Given the description of an element on the screen output the (x, y) to click on. 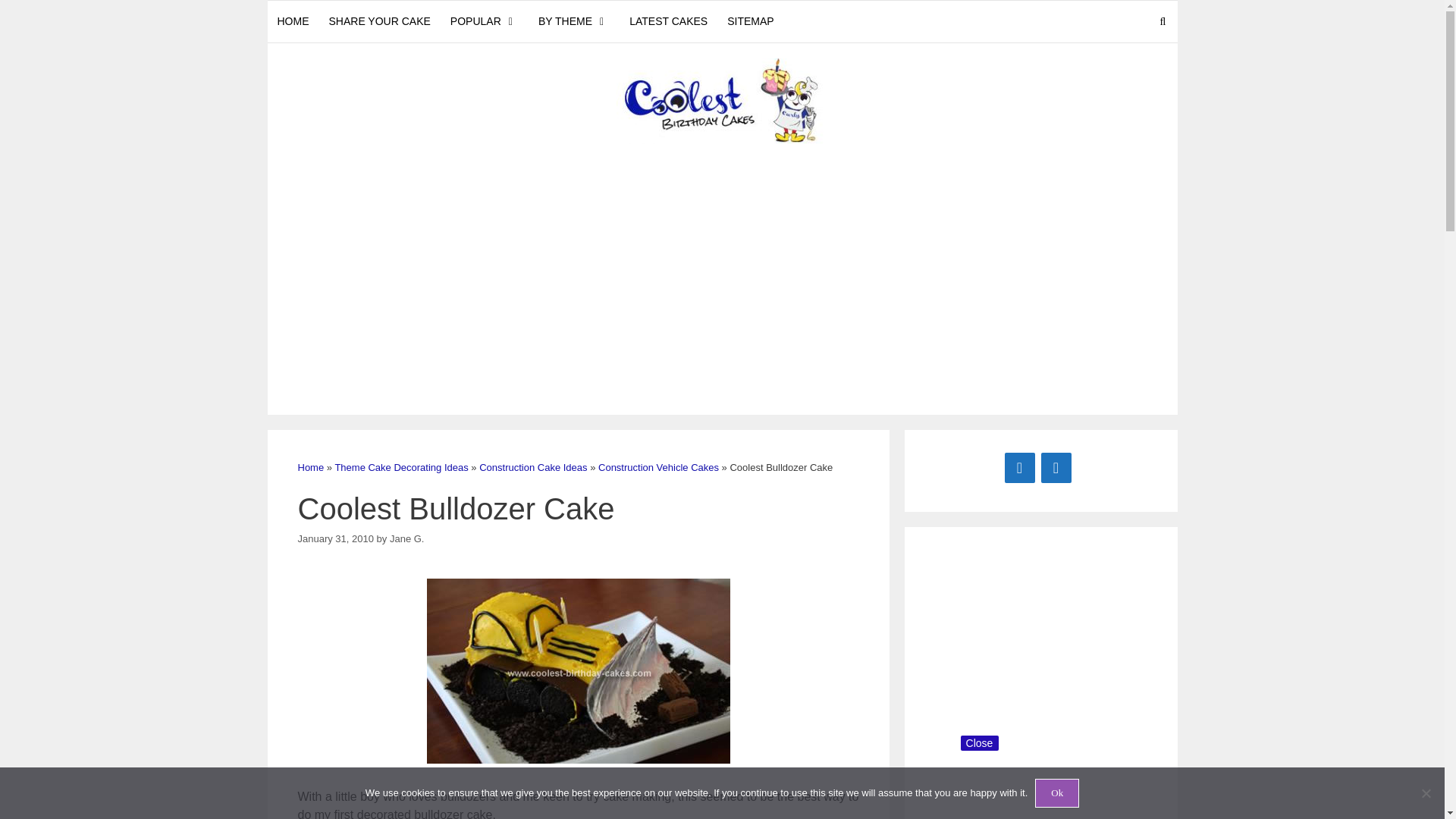
Home (310, 467)
Construction Cake Ideas (532, 467)
SITEMAP (750, 21)
SHARE YOUR CAKE (378, 21)
Theme Cake Decorating Ideas (400, 467)
Instagram (1055, 467)
Facebook (1018, 467)
LATEST CAKES (668, 21)
POPULAR (484, 21)
View all posts by Jane G. (407, 538)
HOME (292, 21)
BY THEME (574, 21)
